Given the description of an element on the screen output the (x, y) to click on. 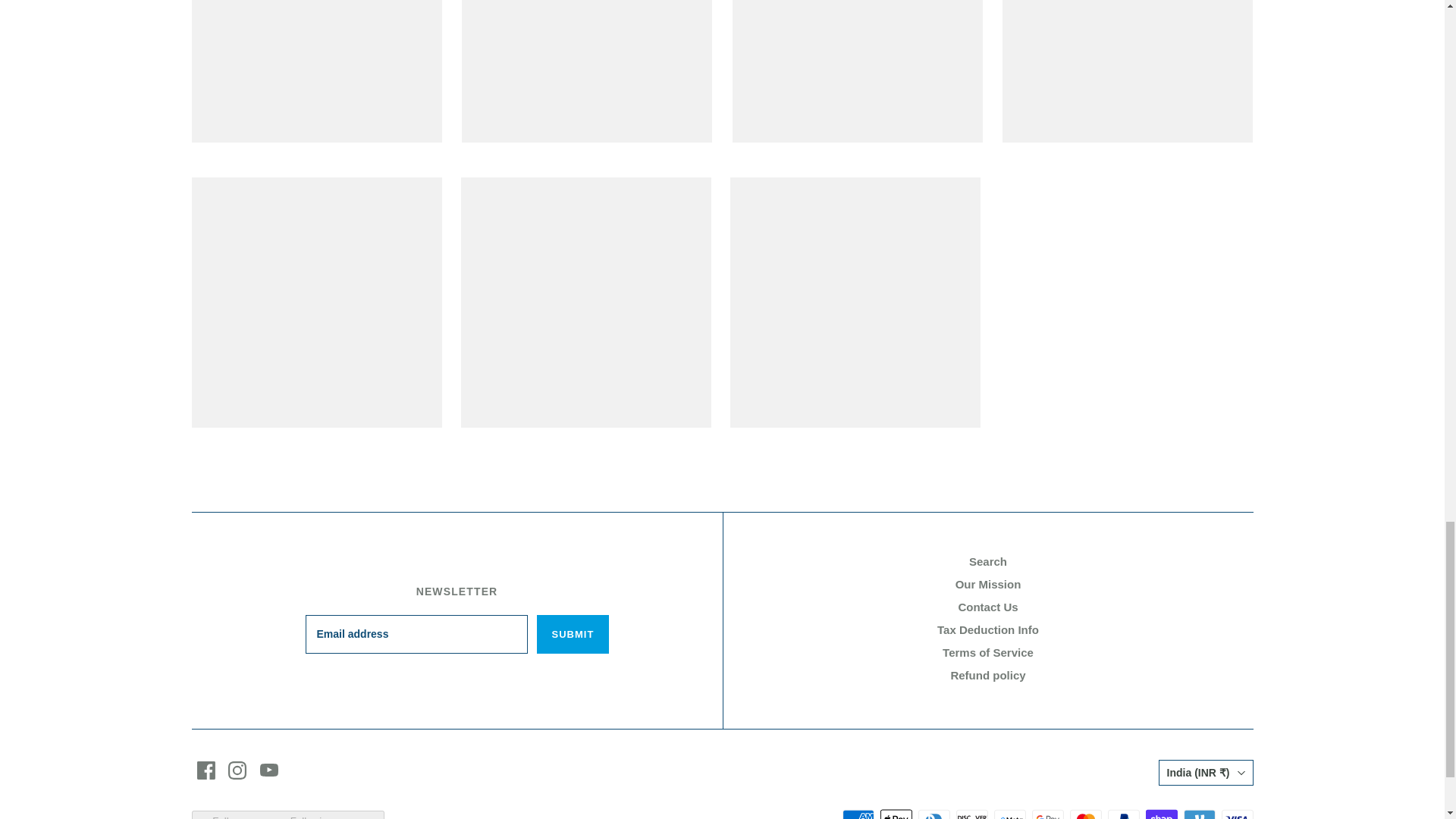
Mastercard (1084, 812)
Diners Club (933, 812)
American Express (857, 812)
Apple Pay (895, 812)
Discover (971, 812)
Meta Pay (1008, 812)
Google Pay (1046, 812)
